Given the description of an element on the screen output the (x, y) to click on. 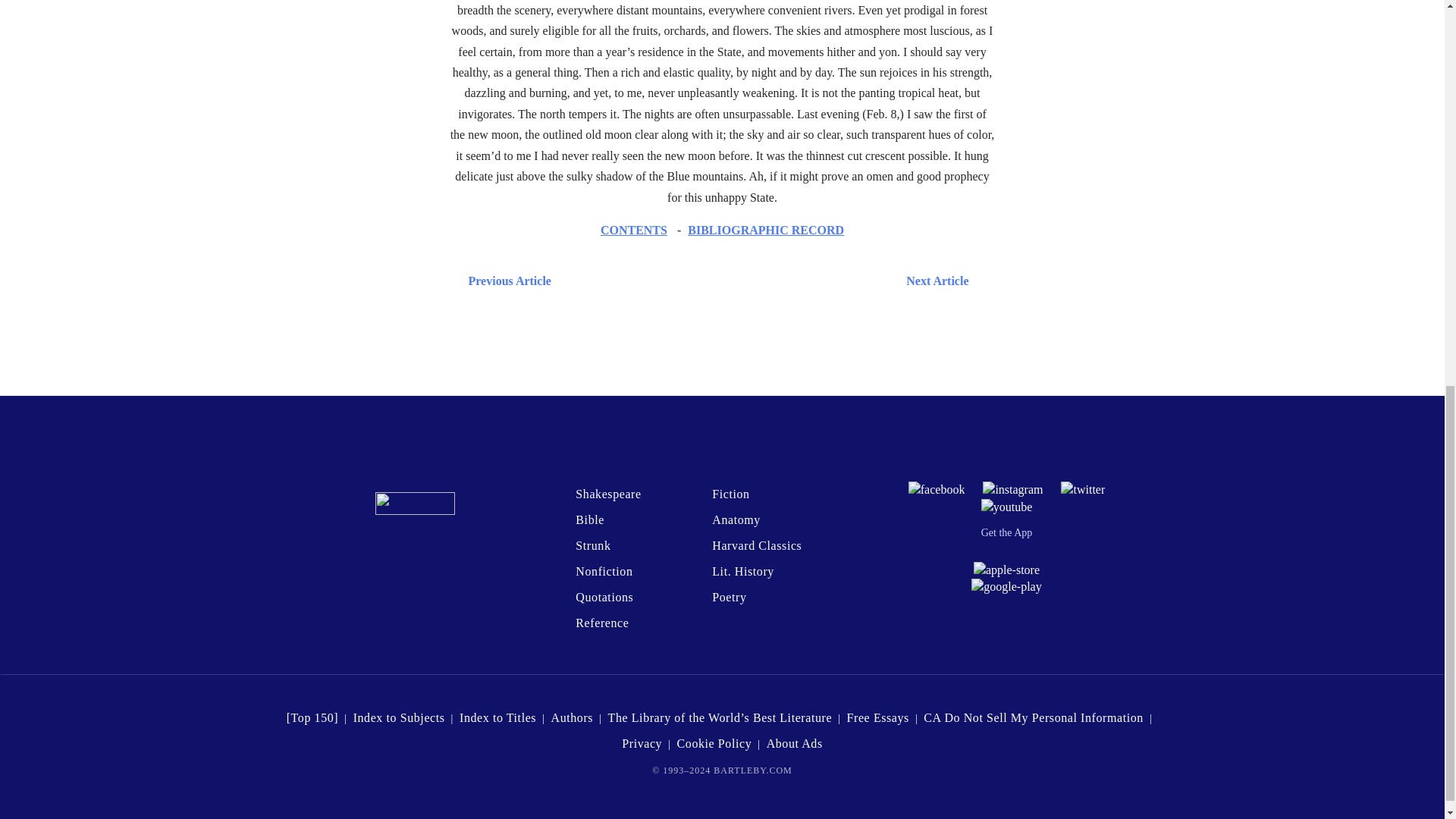
Anatomy (735, 519)
Strunk (592, 545)
Nonfiction (603, 571)
Next Article (767, 281)
Reference (601, 622)
Lit. History (742, 571)
CONTENTS (632, 229)
Harvard Classics (756, 545)
Previous Article (506, 281)
BIBLIOGRAPHIC RECORD (765, 229)
